Given the description of an element on the screen output the (x, y) to click on. 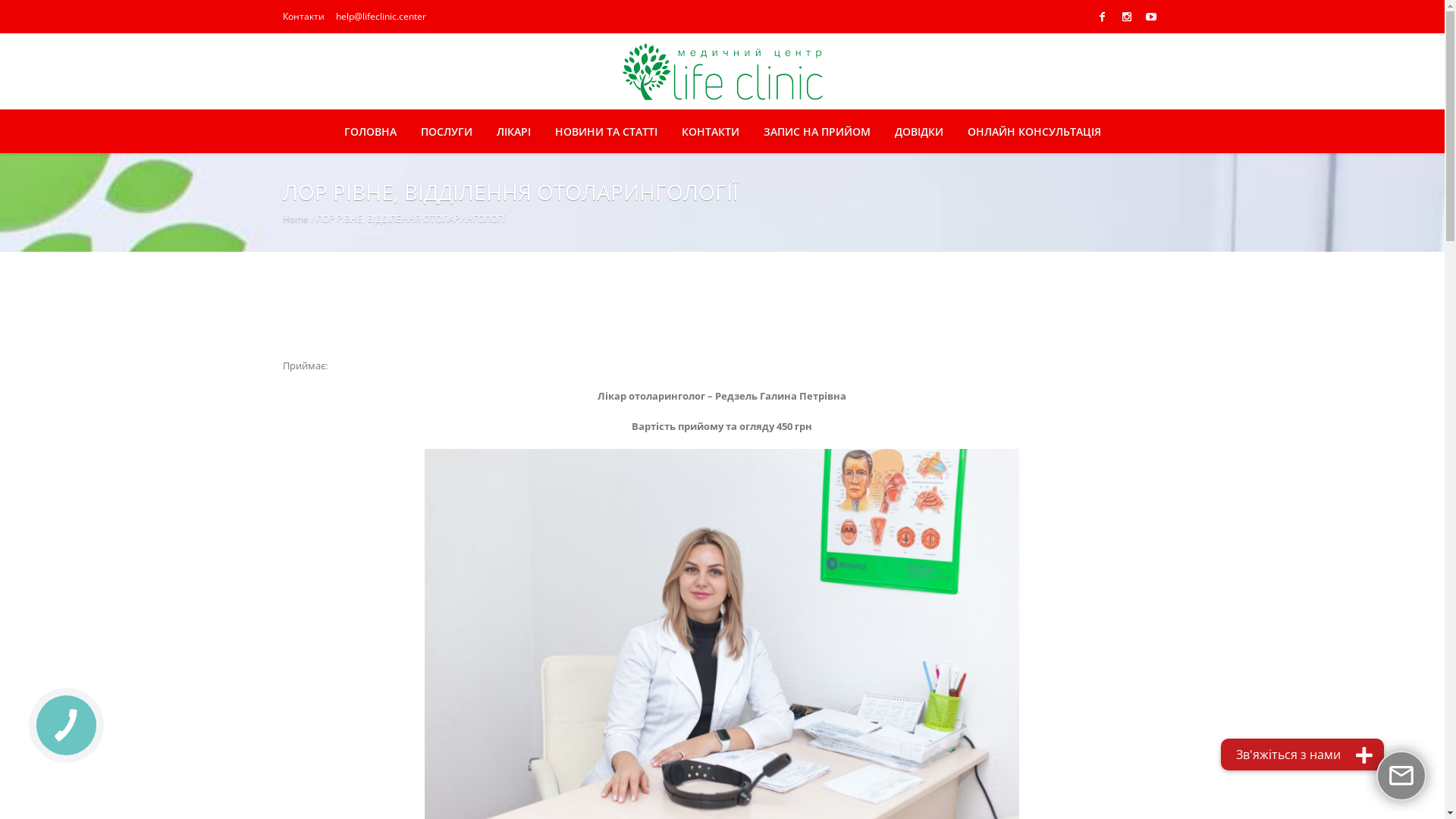
YouTube Element type: hover (1151, 16)
Facebook Element type: hover (1102, 16)
Home Element type: text (294, 218)
Instagram Element type: hover (1126, 16)
help@lifeclinic.center Element type: text (380, 16)
